Given the description of an element on the screen output the (x, y) to click on. 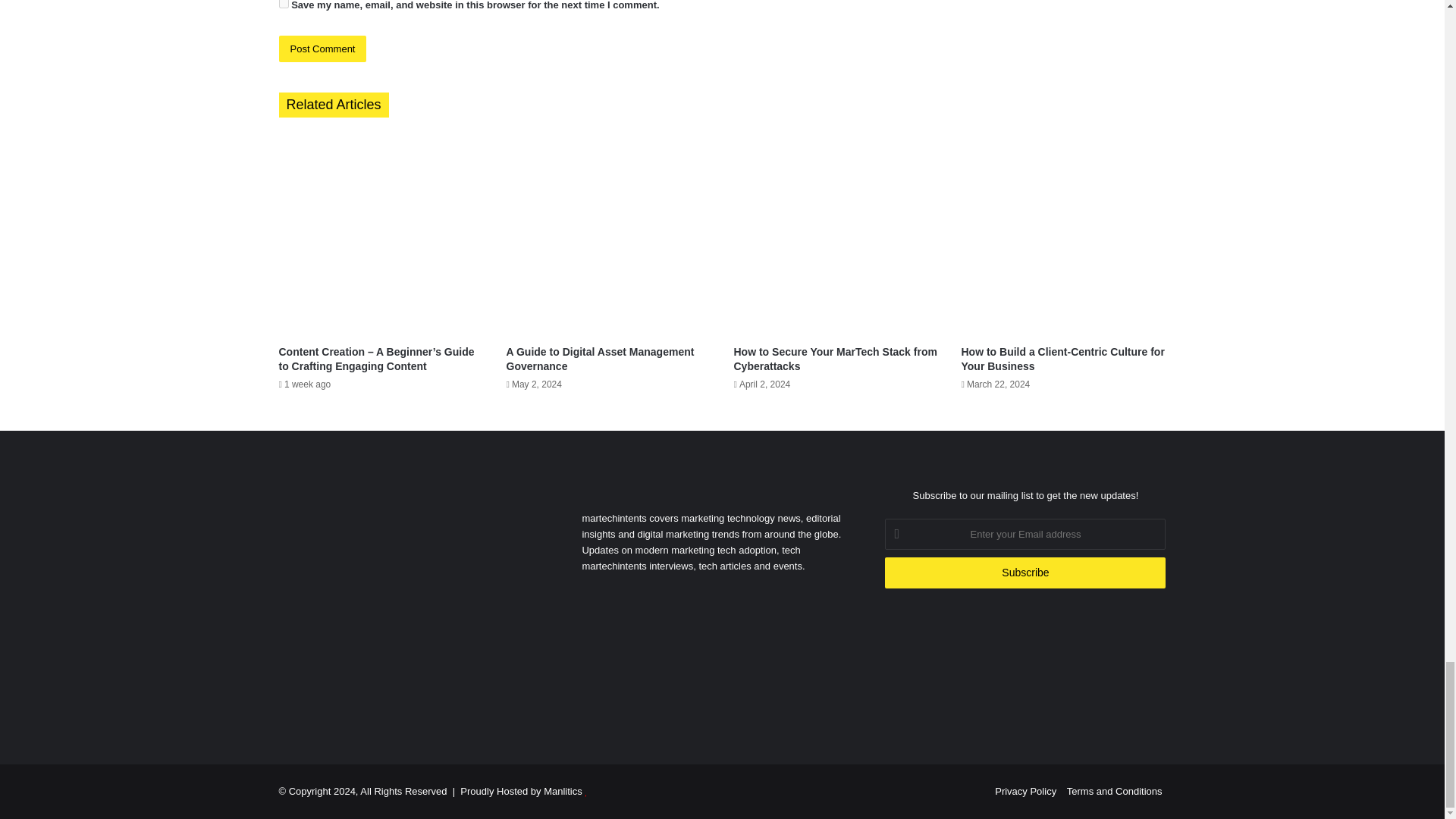
Subscribe (1025, 572)
Post Comment (322, 49)
yes (283, 4)
